Given the description of an element on the screen output the (x, y) to click on. 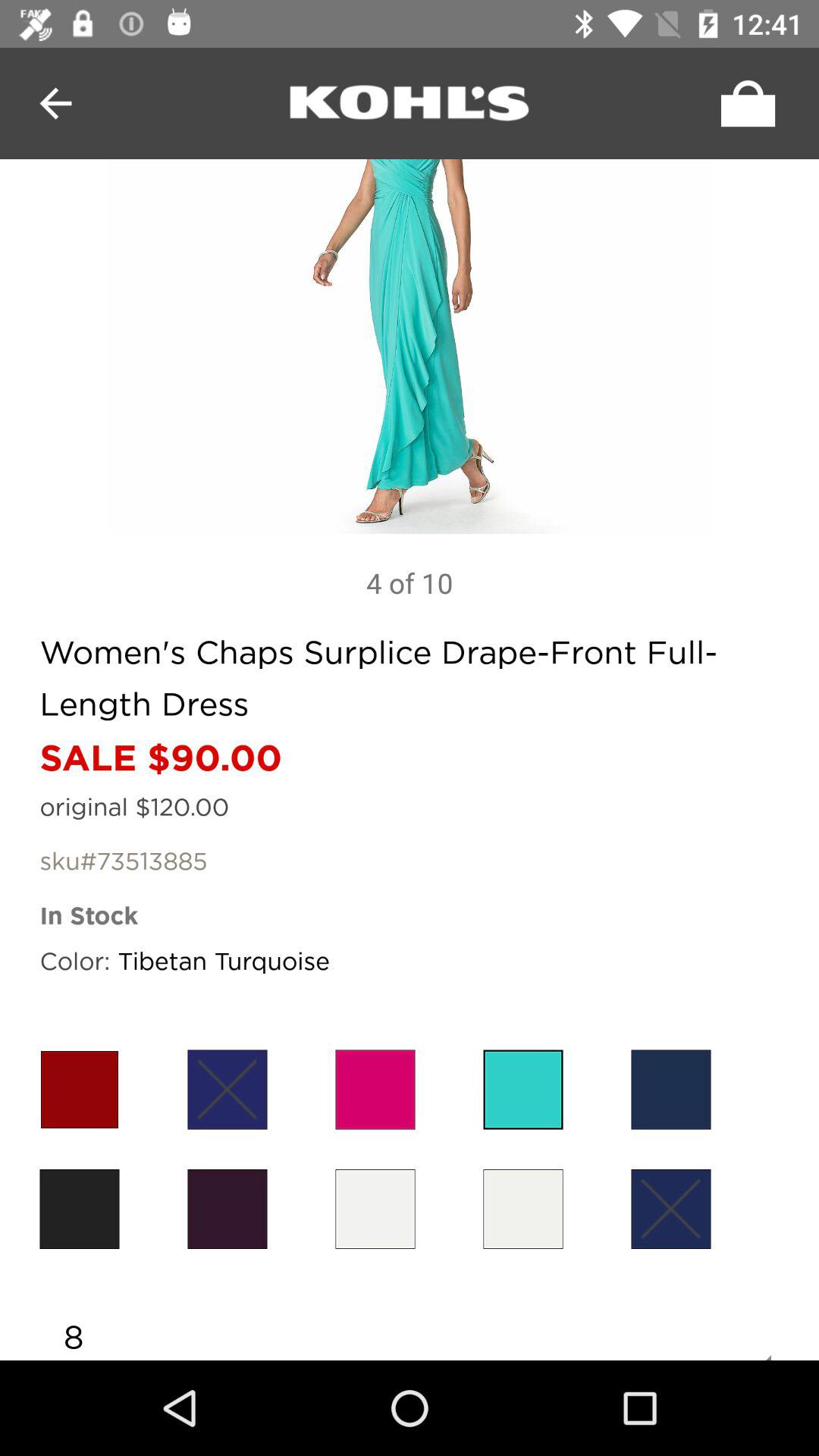
select item above 8 icon (523, 1208)
